Given the description of an element on the screen output the (x, y) to click on. 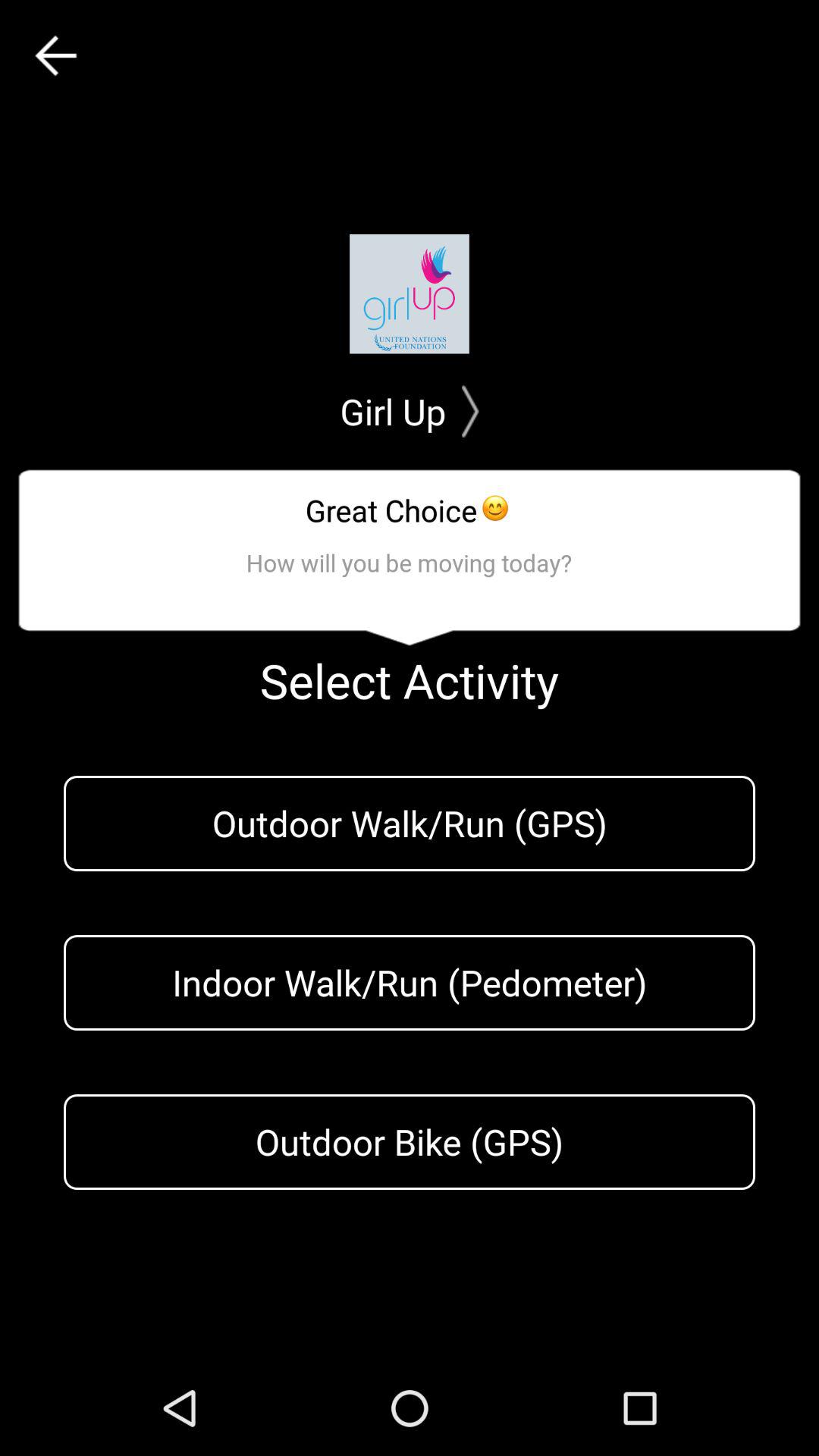
back button (55, 55)
